Given the description of an element on the screen output the (x, y) to click on. 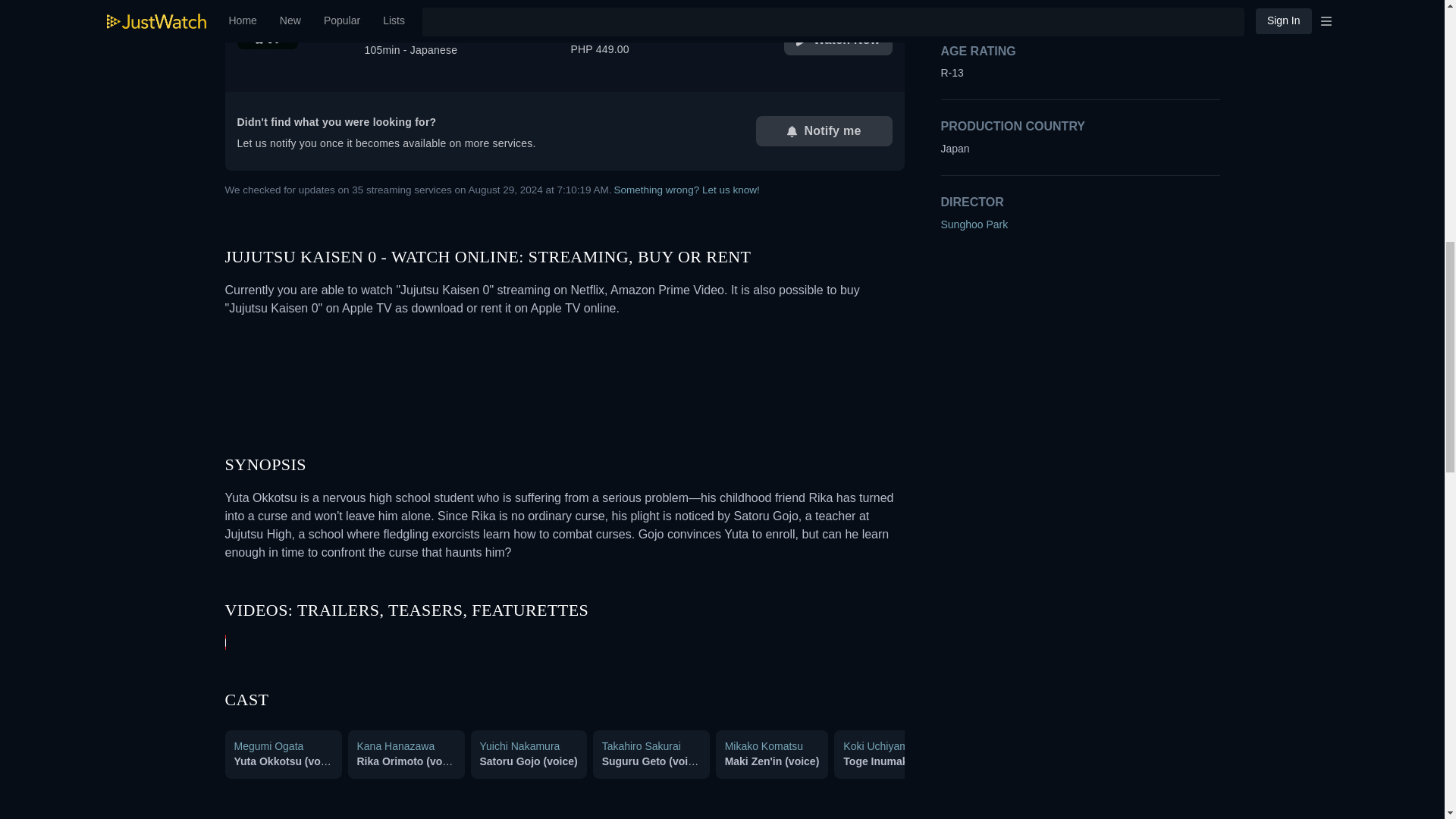
Watch Now (838, 40)
Notify me (564, 6)
